Given the description of an element on the screen output the (x, y) to click on. 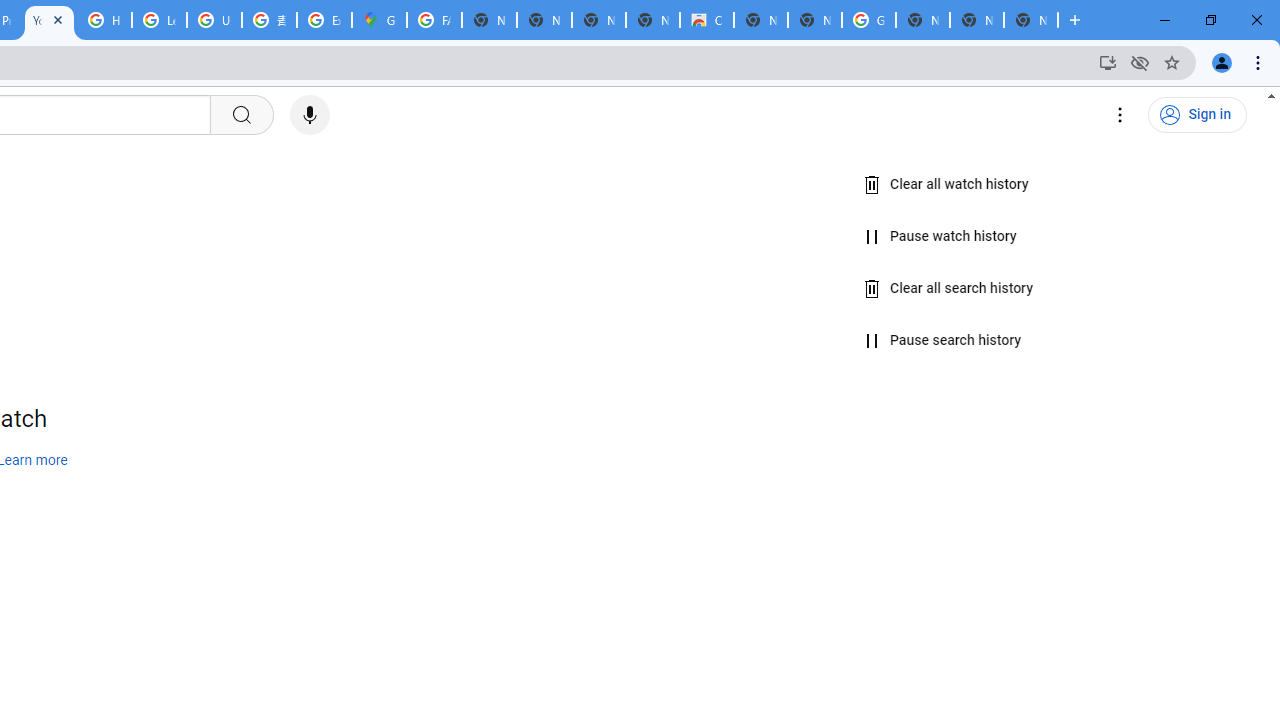
New Tab (815, 20)
Search with your voice (309, 115)
How Chrome protects your passwords - Google Chrome Help (103, 20)
Google Images (868, 20)
YouTube (48, 20)
Install YouTube (1107, 62)
Pause search history (942, 341)
Pause watch history (940, 236)
Chrome Web Store (706, 20)
